Given the description of an element on the screen output the (x, y) to click on. 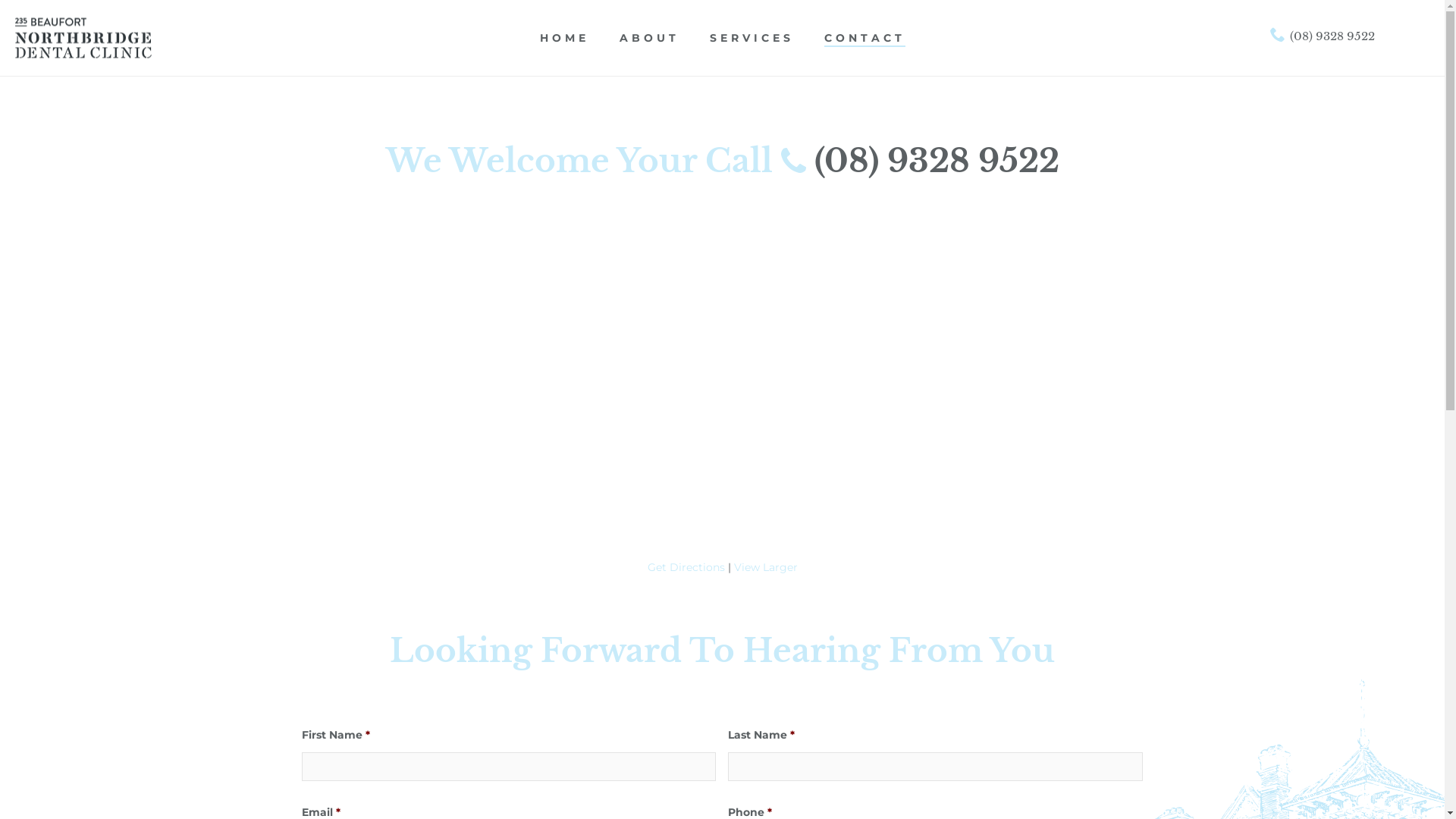
View Larger Element type: text (765, 567)
SERVICES Element type: text (751, 38)
Get Directions Element type: text (685, 567)
ABOUT Element type: text (648, 38)
(08) 9328 9522 Element type: text (1322, 36)
(08) 9328 9522 Element type: text (936, 160)
CONTACT Element type: text (863, 38)
Northbridge Dental Clinic Element type: hover (83, 38)
HOME Element type: text (564, 38)
